Given the description of an element on the screen output the (x, y) to click on. 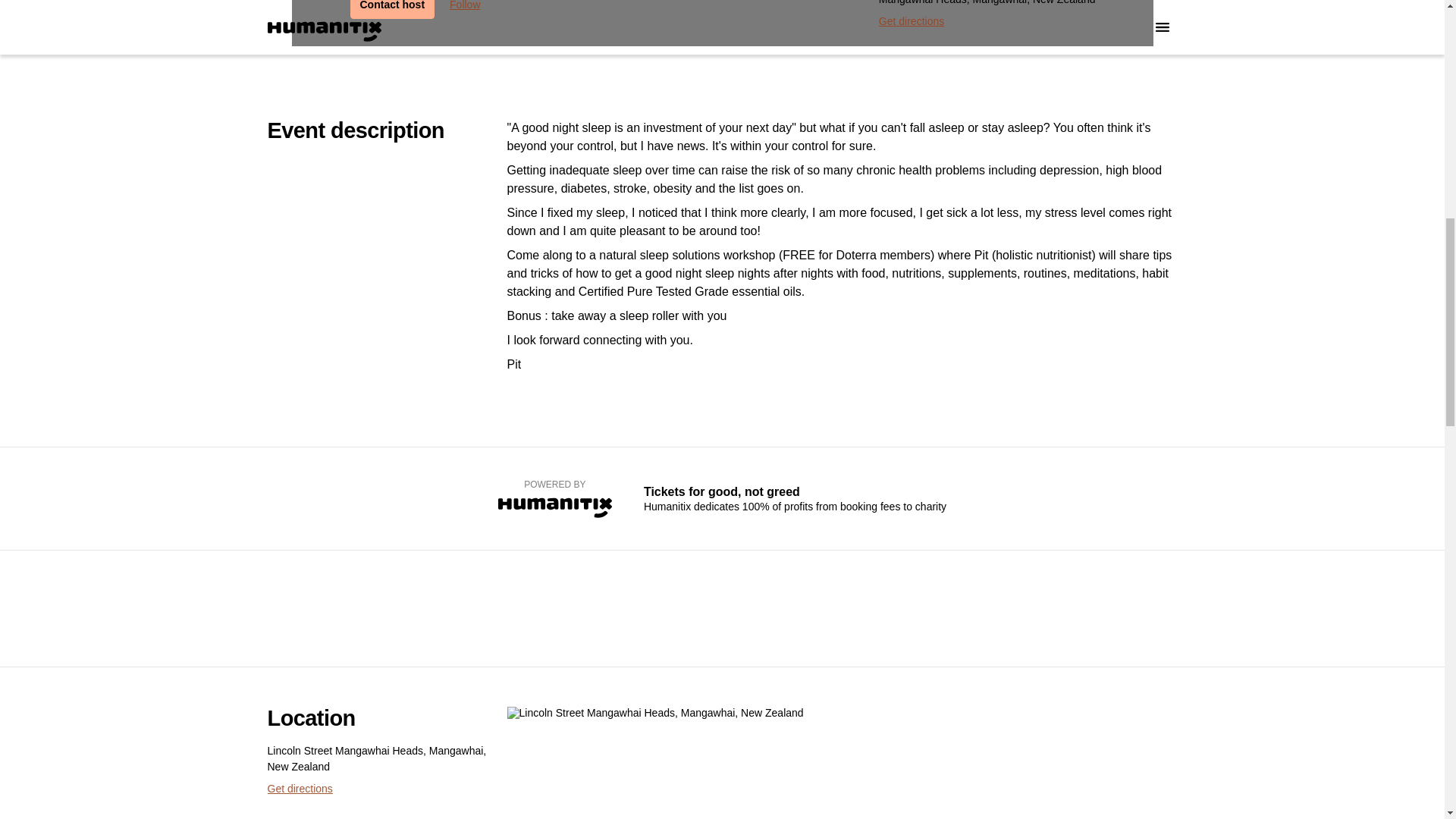
Follow (465, 9)
Get directions (298, 788)
Get directions (911, 21)
